Given the description of an element on the screen output the (x, y) to click on. 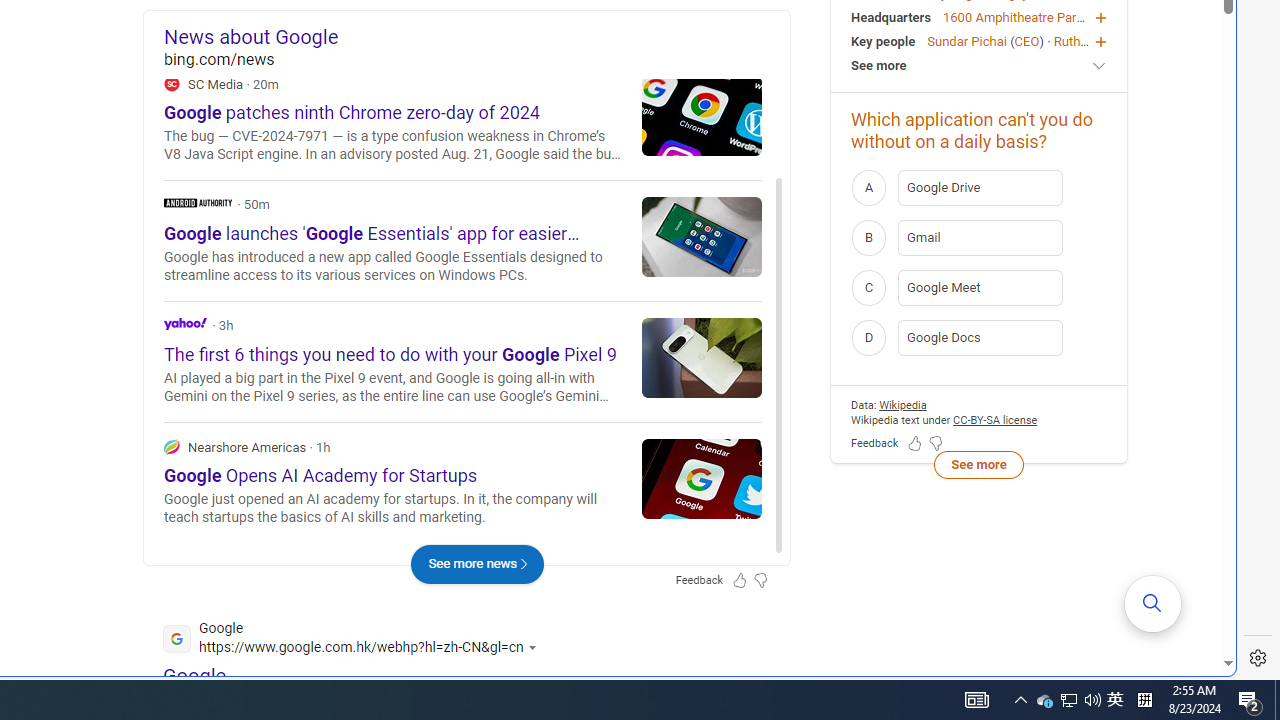
Google Opens AI Academy for Startups (701, 478)
Search more (1153, 604)
Google patches ninth Chrome zero-day of 2024 (701, 115)
Ruth Porat (1083, 40)
Nearshore Americas (171, 446)
C Google Meet (979, 286)
bing.com/news (476, 59)
SC Media (171, 83)
Feedback Dislike (936, 444)
Headquarters (890, 16)
A Google Drive (979, 187)
The first 6 things you need to do with your Google Pixel 9 (701, 357)
